Given the description of an element on the screen output the (x, y) to click on. 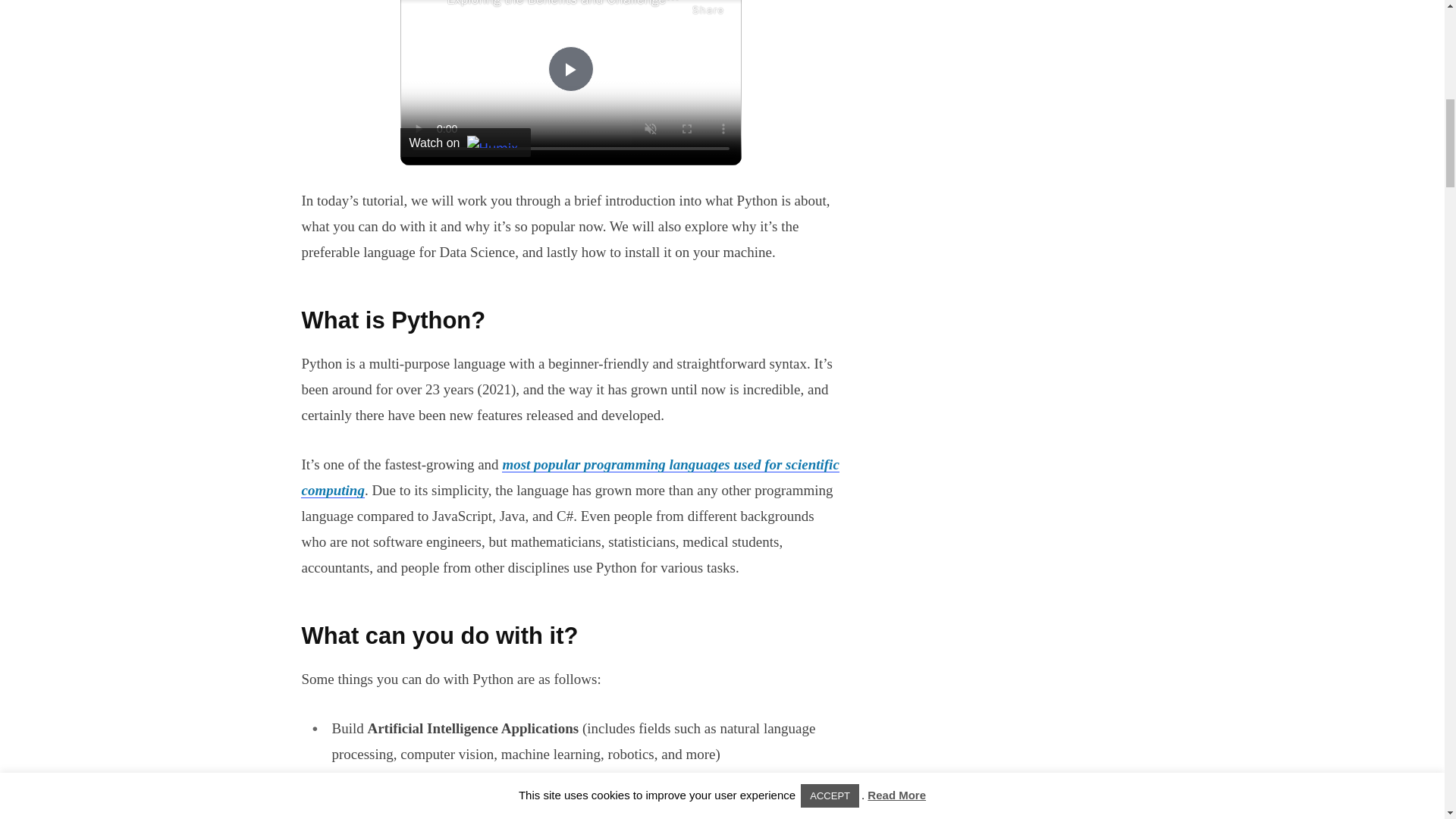
Play Video (569, 68)
Play Video (569, 68)
Watch on (465, 142)
Share (709, 9)
